Given the description of an element on the screen output the (x, y) to click on. 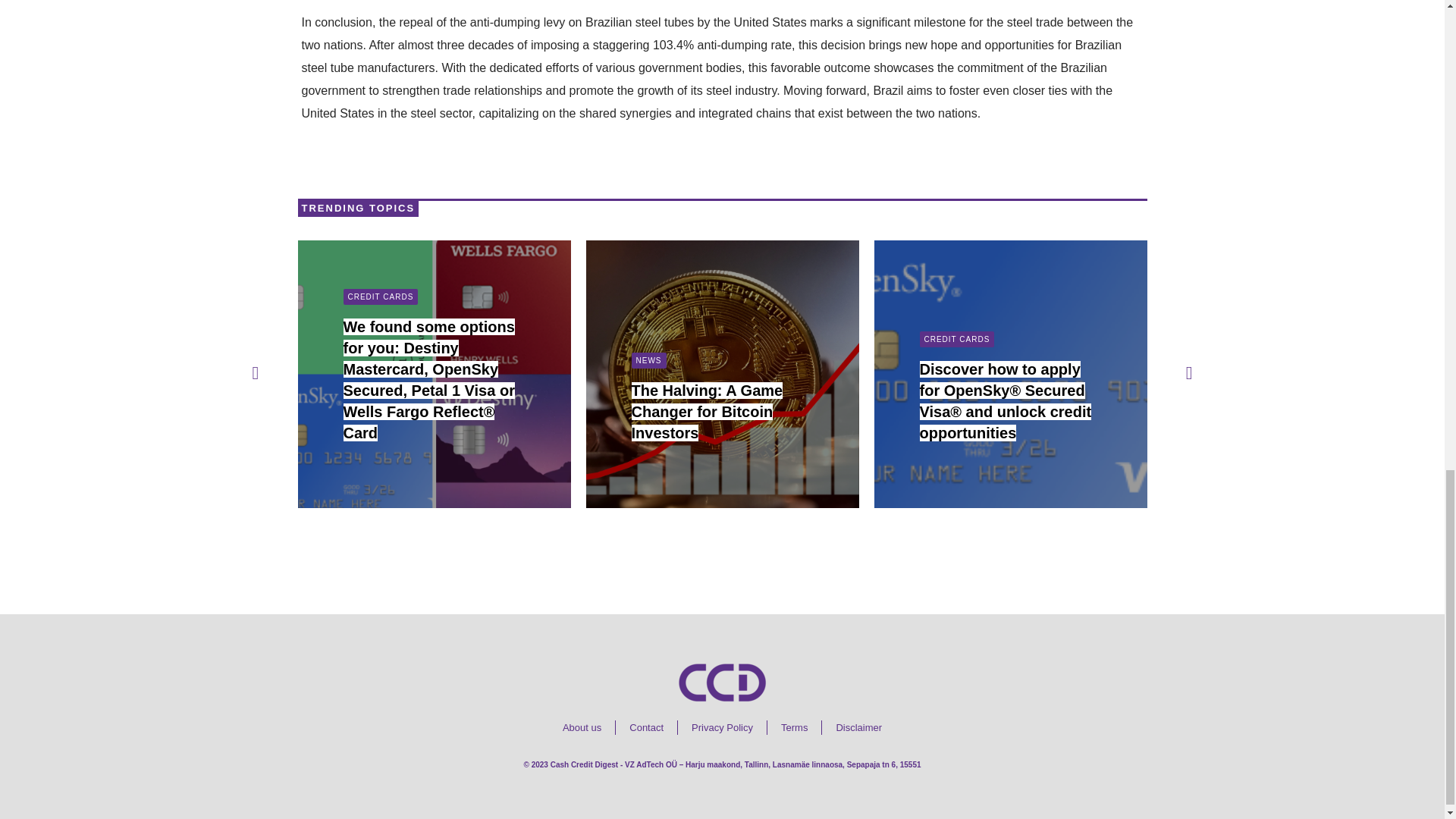
CREDIT CARDS (956, 339)
TRENDING TOPICS (358, 208)
The Halving: A Game Changer for Bitcoin Investors (706, 411)
CREDIT CARDS (379, 296)
The Halving: A Game Changer for Bitcoin Investors (706, 411)
NEWS (647, 360)
